Given the description of an element on the screen output the (x, y) to click on. 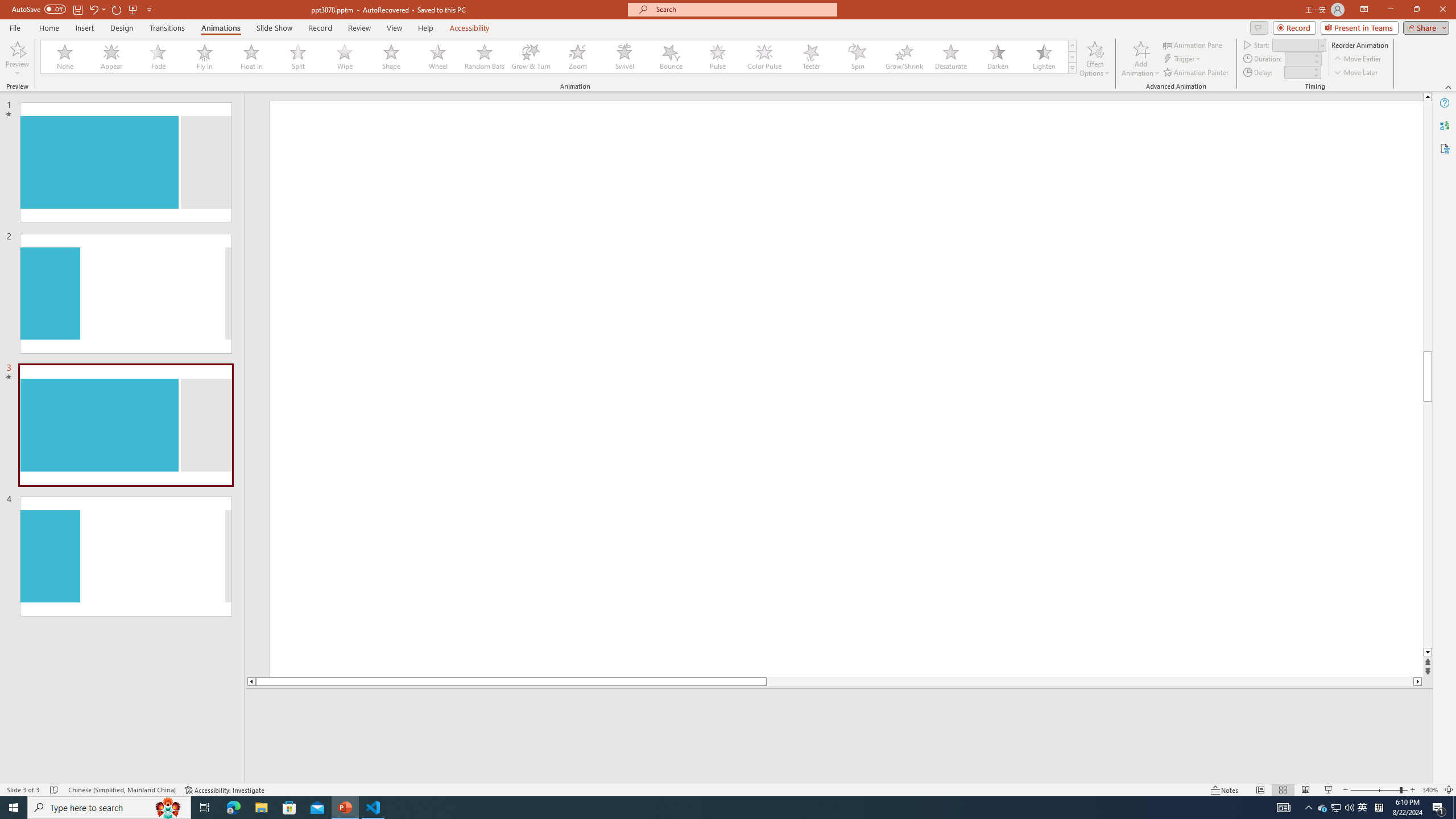
Animation Delay (1297, 72)
Wheel (437, 56)
Animation Styles (1071, 67)
